Given the description of an element on the screen output the (x, y) to click on. 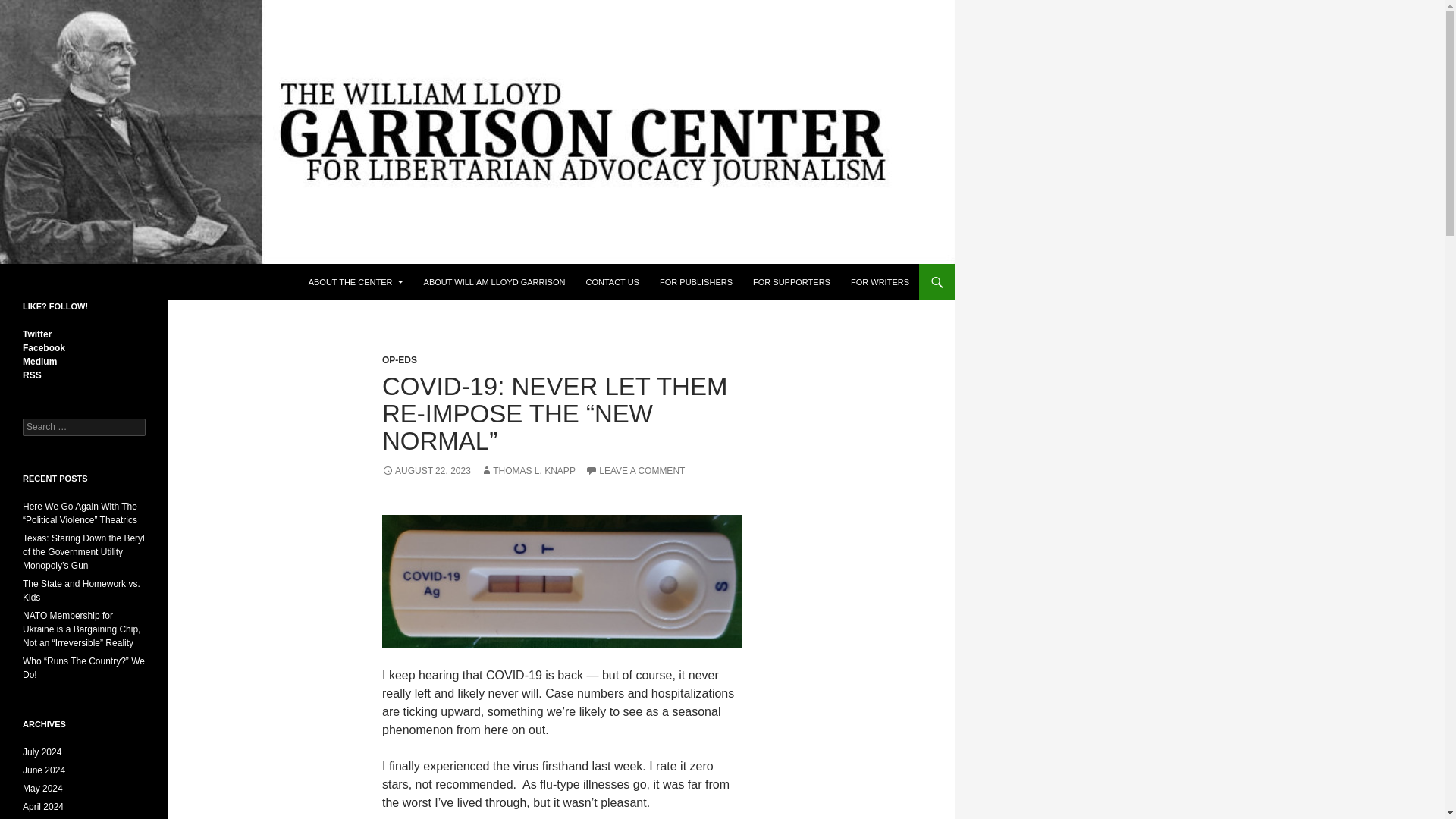
FOR WRITERS (879, 281)
ABOUT WILLIAM LLOYD GARRISON (494, 281)
May 2024 (42, 787)
OP-EDS (398, 359)
THOMAS L. KNAPP (527, 470)
Twitter (36, 334)
The State and Homework vs. Kids (81, 590)
July 2024 (42, 751)
June 2024 (44, 769)
RSS (32, 375)
Medium (39, 361)
April 2024 (43, 806)
Search (30, 8)
